Given the description of an element on the screen output the (x, y) to click on. 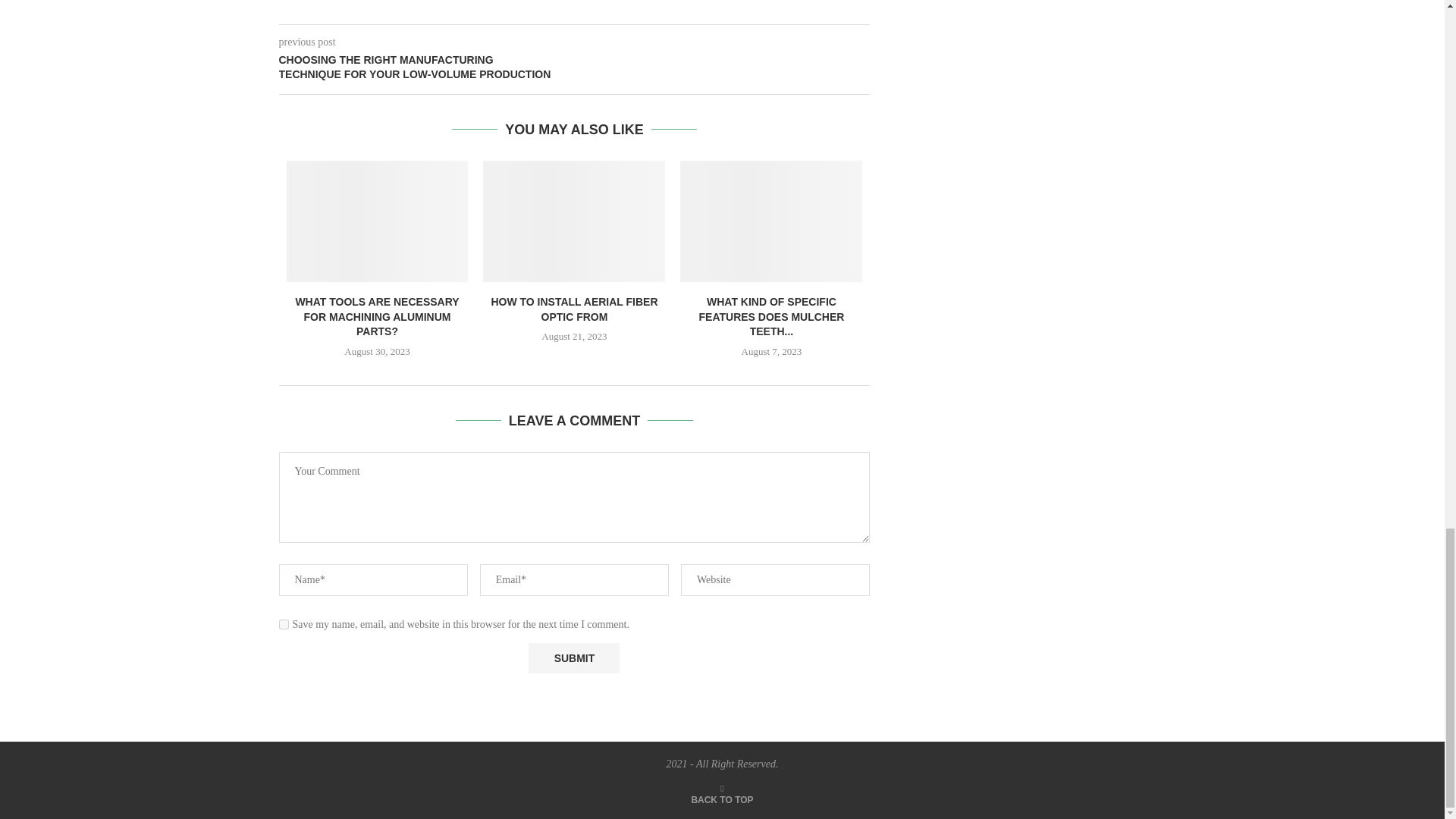
HOW TO INSTALL AERIAL FIBER OPTIC FROM (574, 308)
WHAT KIND OF SPECIFIC FEATURES DOES MULCHER TEETH... (771, 316)
What Tools Are Necessary For Machining Aluminum Parts? (377, 220)
How to Install Aerial Fiber Optic from (574, 220)
WHAT TOOLS ARE NECESSARY FOR MACHINING ALUMINUM PARTS? (376, 316)
yes (283, 624)
Submit (574, 657)
